Given the description of an element on the screen output the (x, y) to click on. 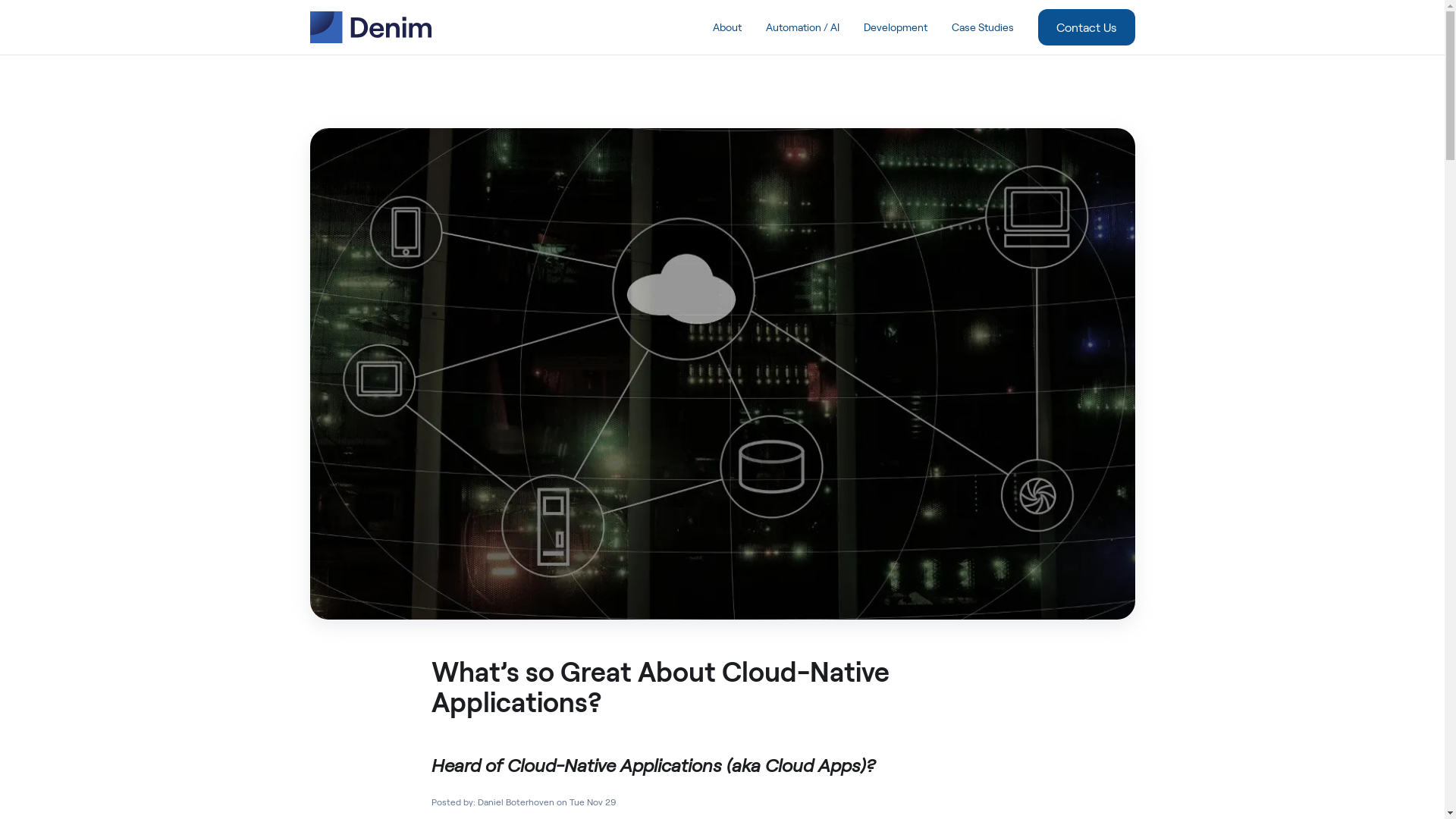
About Element type: text (726, 27)
Development Element type: text (894, 27)
Contact Us Element type: text (1085, 27)
Case Studies Element type: text (981, 27)
Automation / AI Element type: text (802, 27)
